Given the description of an element on the screen output the (x, y) to click on. 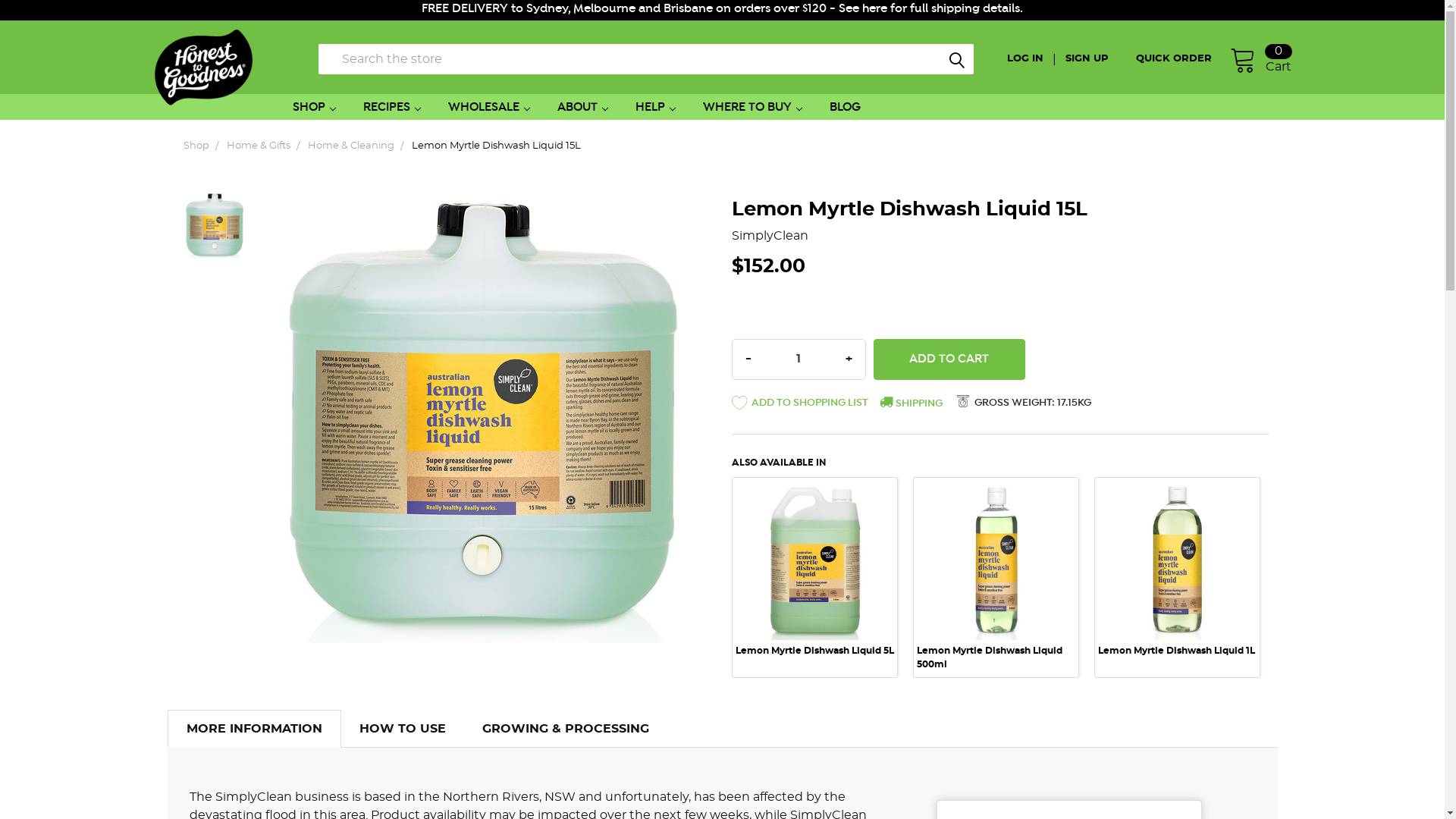
RECIPES Element type: text (391, 106)
Home & Cleaning Element type: text (350, 145)
Shop Element type: text (196, 145)
GROWING & PROCESSING Element type: text (565, 728)
Lemon Myrtle Dishwash Liquid 5L Element type: text (814, 650)
Lemon Myrtle Dishwash Liquid 15L Element type: text (495, 145)
Lemon Myrtle Dishwash Liquid 1L Element type: text (1176, 650)
Lemon Myrtle Dishwash Liquid 5L 1 Element type: hover (814, 560)
HELP Element type: text (655, 106)
Lemon Myrtle Dishwash Liquid 15L 1 Element type: hover (481, 412)
Cart
0 Element type: text (1260, 59)
Lemon Myrtle Dishwash Liquid 500ml Element type: text (988, 657)
Lemon Myrtle Dishwash Liquid 1L 1 Element type: hover (1177, 560)
Home & Gifts Element type: text (258, 145)
  ADD TO SHOPPING LIST Element type: text (799, 405)
Lemon Myrtle Dishwash Liquid 500ml 1 Element type: hover (995, 560)
BLOG Element type: text (844, 106)
Add to Cart Element type: text (949, 358)
SIGN UP Element type: text (1090, 59)
QUICK ORDER Element type: text (1178, 59)
WHOLESALE Element type: text (488, 106)
INCREASE QUANTITY:
+ Element type: text (849, 358)
DECREASE QUANTITY:
- Element type: text (747, 358)
WHERE TO BUY Element type: text (752, 106)
SHOP Element type: text (320, 106)
Search Element type: text (927, 62)
ABOUT Element type: text (582, 106)
SHIPPING Element type: text (910, 403)
Honest to Goodness Element type: hover (207, 67)
HOW TO USE Element type: text (402, 728)
MORE INFORMATION Element type: text (254, 728)
Lemon Myrtle Dishwash Liquid 15L 1 Element type: hover (214, 224)
LOG IN Element type: text (1029, 59)
